Given the description of an element on the screen output the (x, y) to click on. 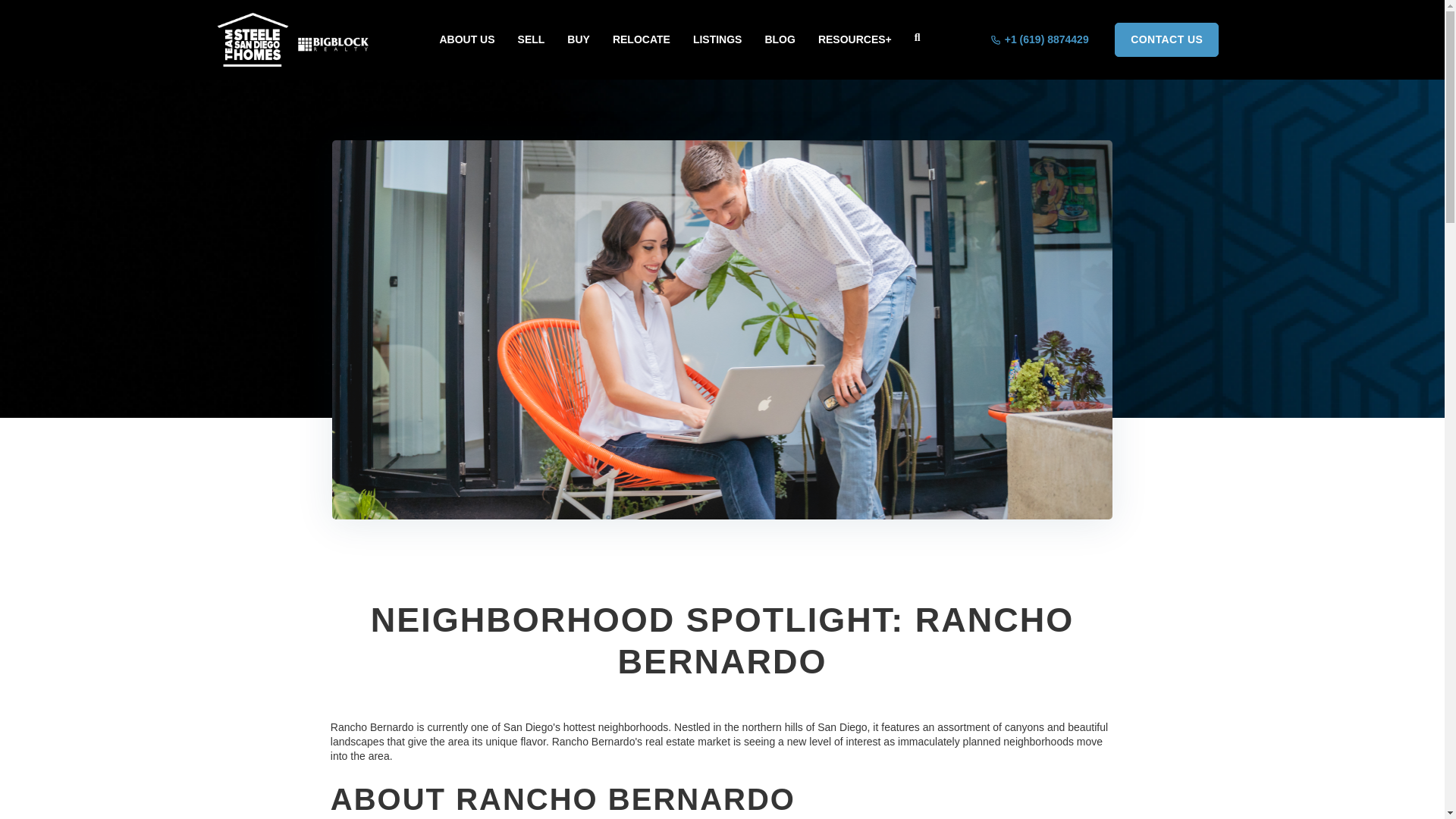
RELOCATE (641, 39)
ABOUT US (466, 39)
BUY (577, 39)
BLOG (779, 39)
CONTACT US (1166, 39)
Contact Us (1166, 39)
LISTINGS (717, 39)
SELL (532, 39)
